Given the description of an element on the screen output the (x, y) to click on. 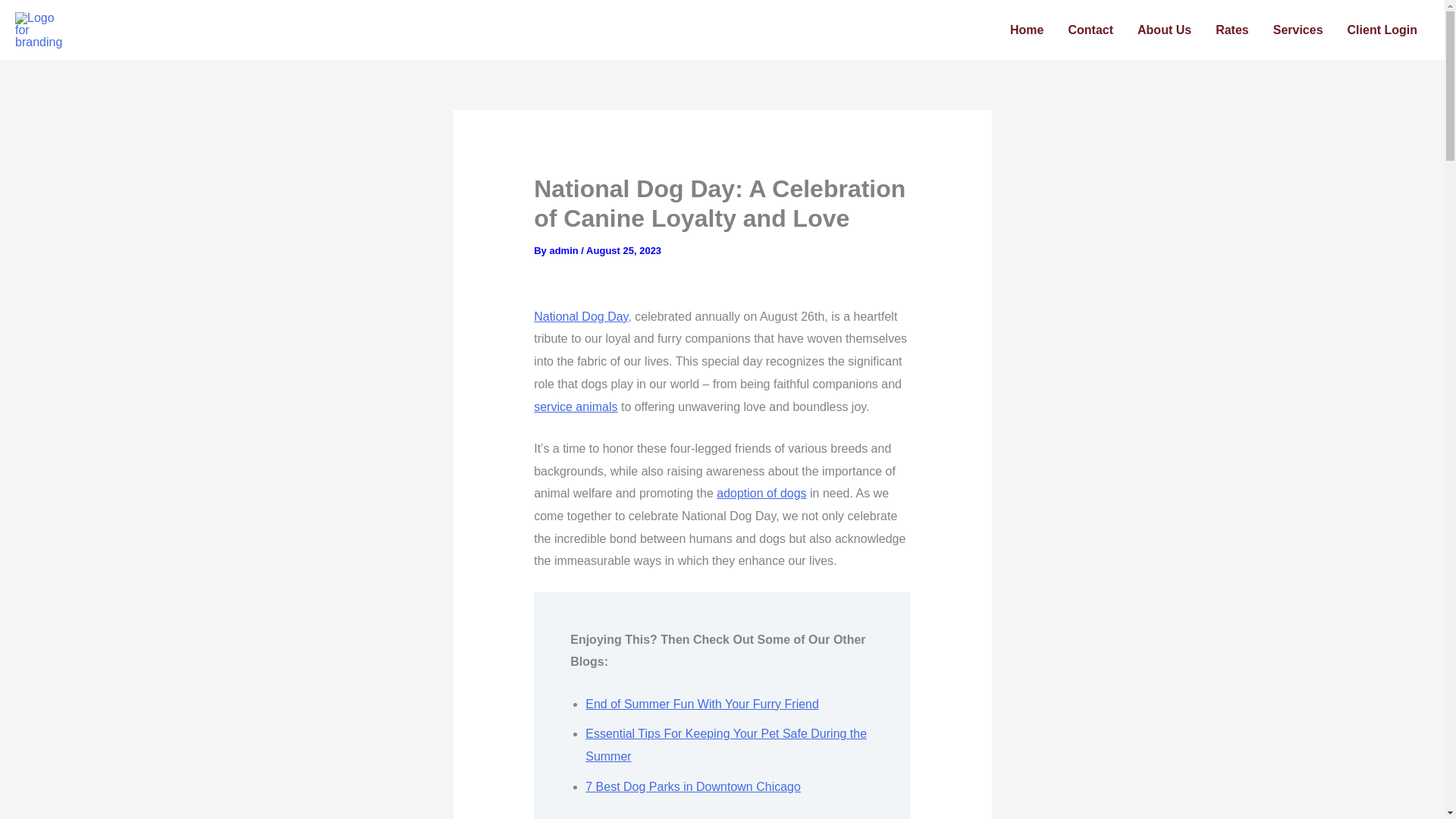
Client Login (1382, 30)
Home (1026, 30)
7 Best Dog Parks in Downtown Chicago (692, 786)
Rates (1232, 30)
View all posts by admin (564, 250)
Contact (1090, 30)
Essential Tips For Keeping Your Pet Safe During the Summer (725, 744)
Services (1297, 30)
About Us (1164, 30)
admin (564, 250)
service animals (575, 406)
adoption of dogs (761, 492)
End of Summer Fun With Your Furry Friend (701, 703)
National Dog Day (580, 316)
